Given the description of an element on the screen output the (x, y) to click on. 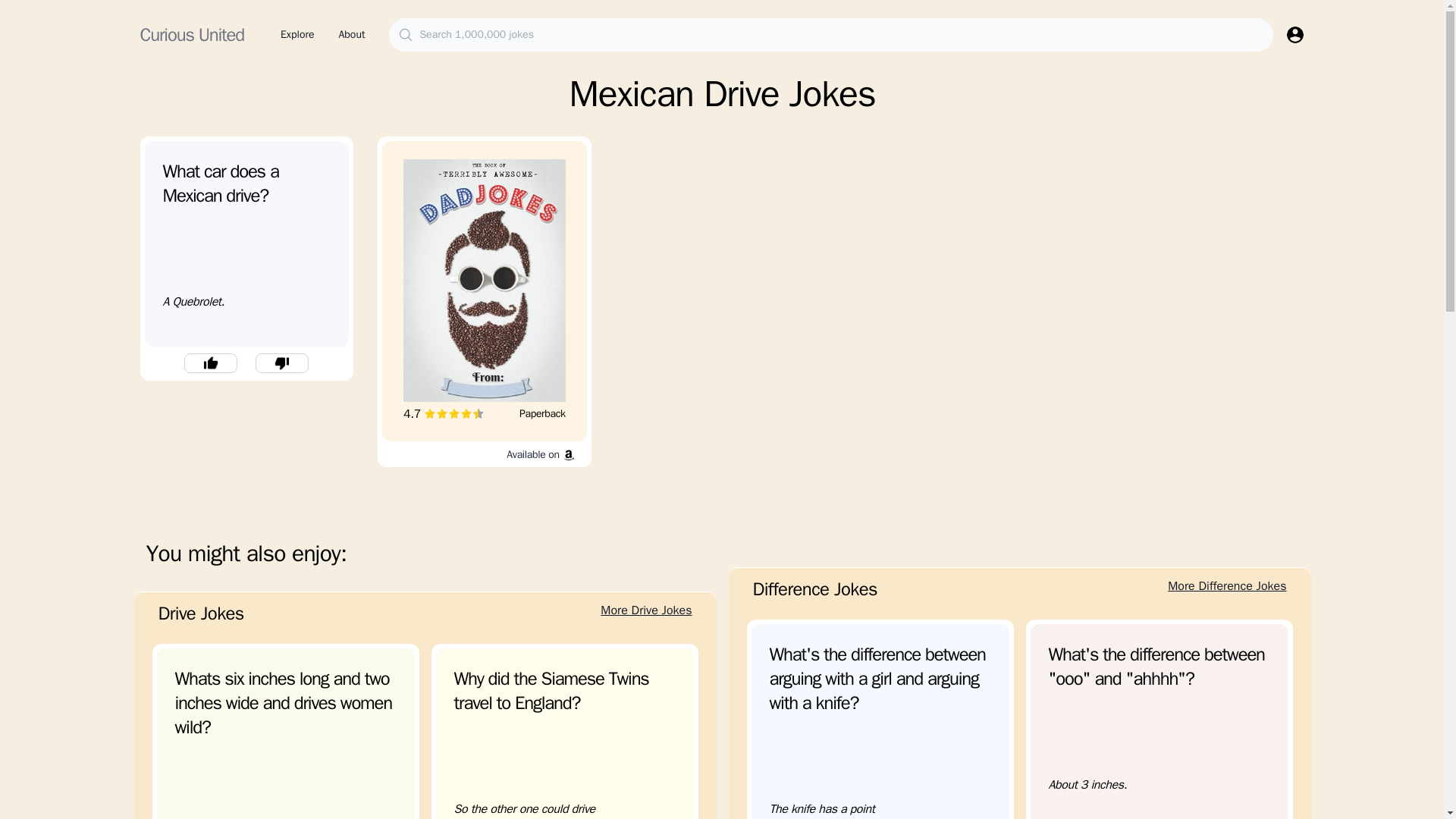
Drive Jokes (484, 301)
About (197, 616)
Explore (351, 34)
More Drive Jokes (297, 34)
